Given the description of an element on the screen output the (x, y) to click on. 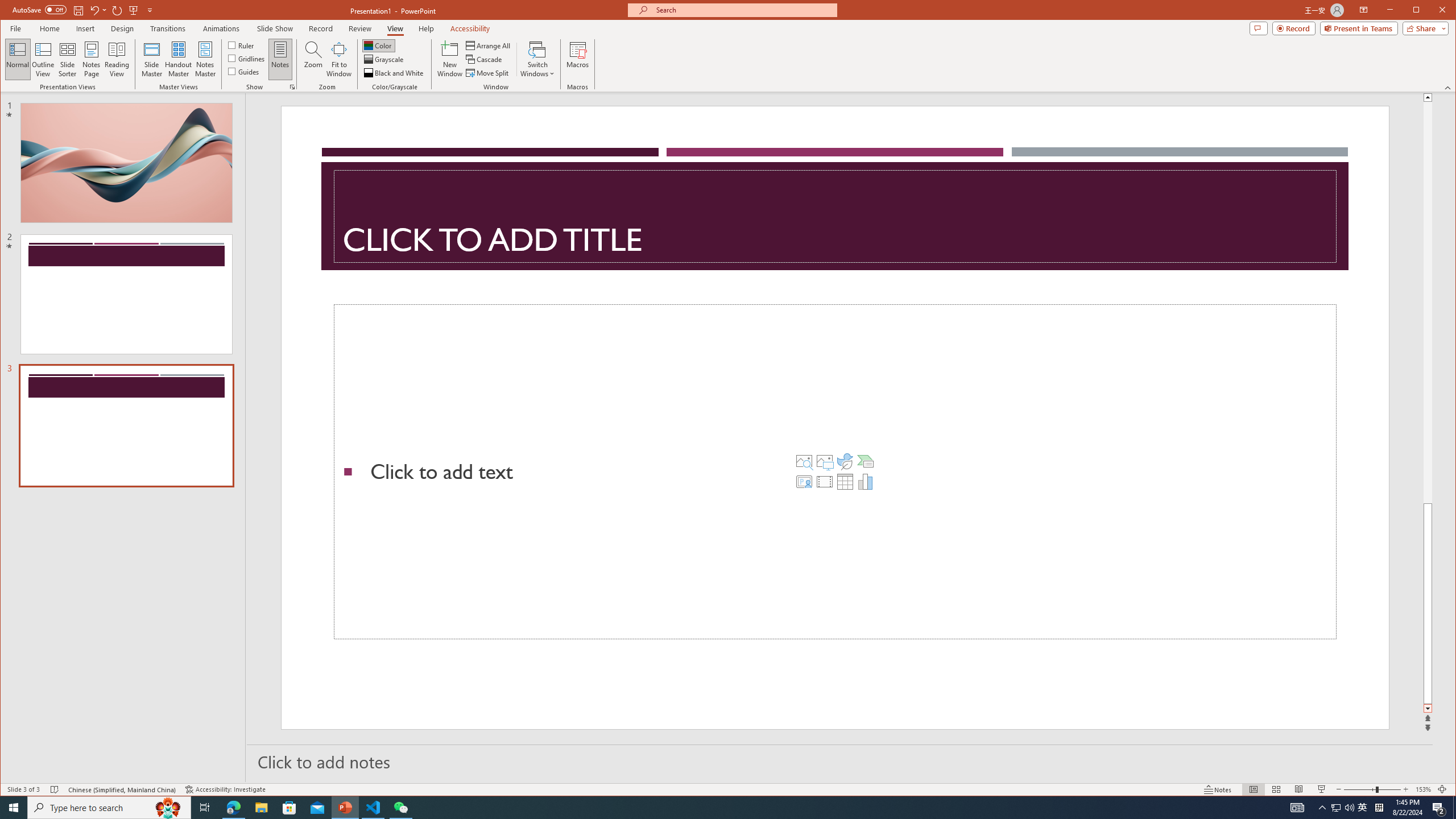
Ruler (241, 44)
